Given the description of an element on the screen output the (x, y) to click on. 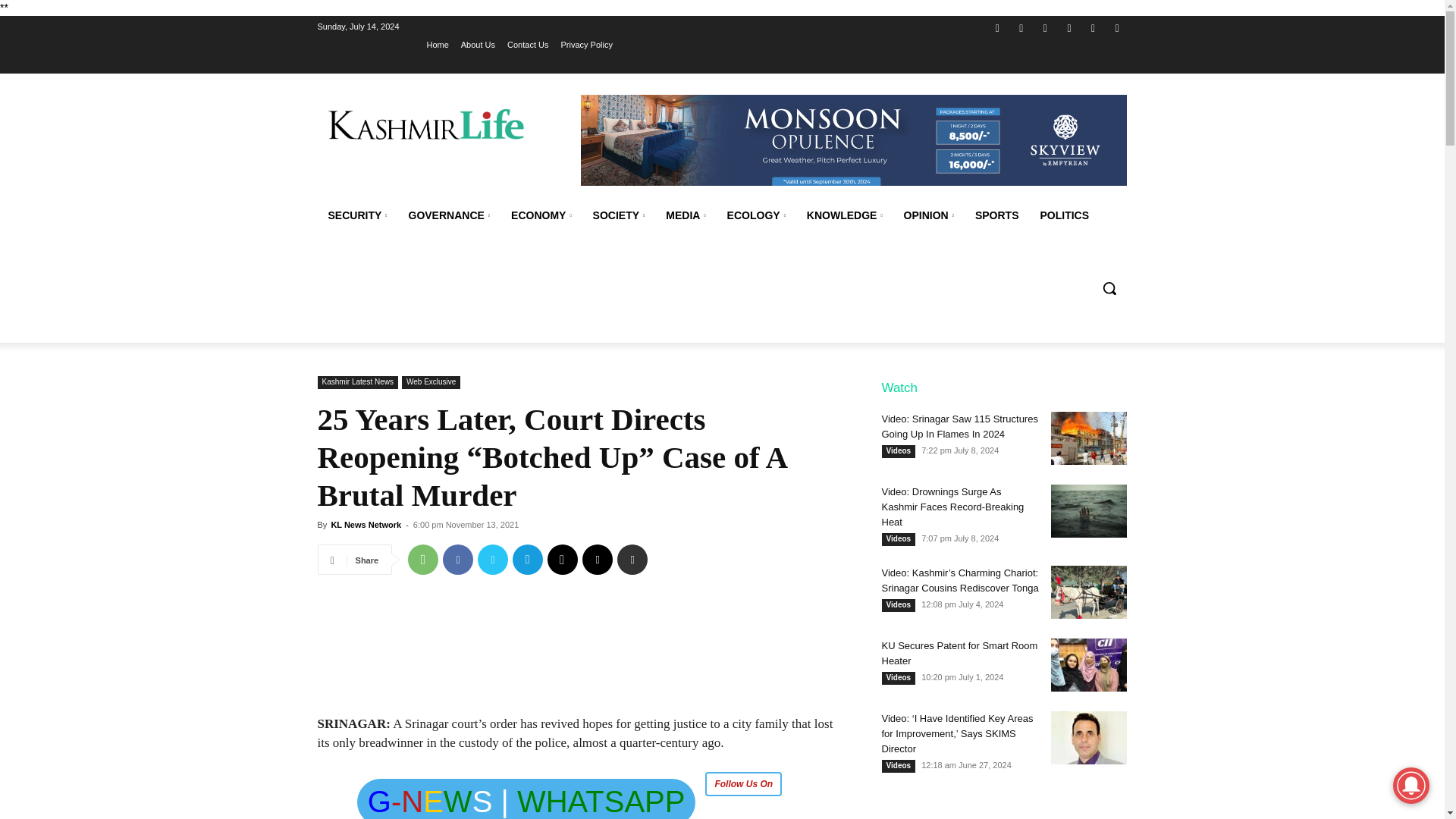
Website (1069, 28)
Youtube (1116, 28)
Instagram (1021, 28)
WhatsApp (422, 559)
WhatsApp (1093, 28)
Facebook (997, 28)
Twitter (1045, 28)
